Given the description of an element on the screen output the (x, y) to click on. 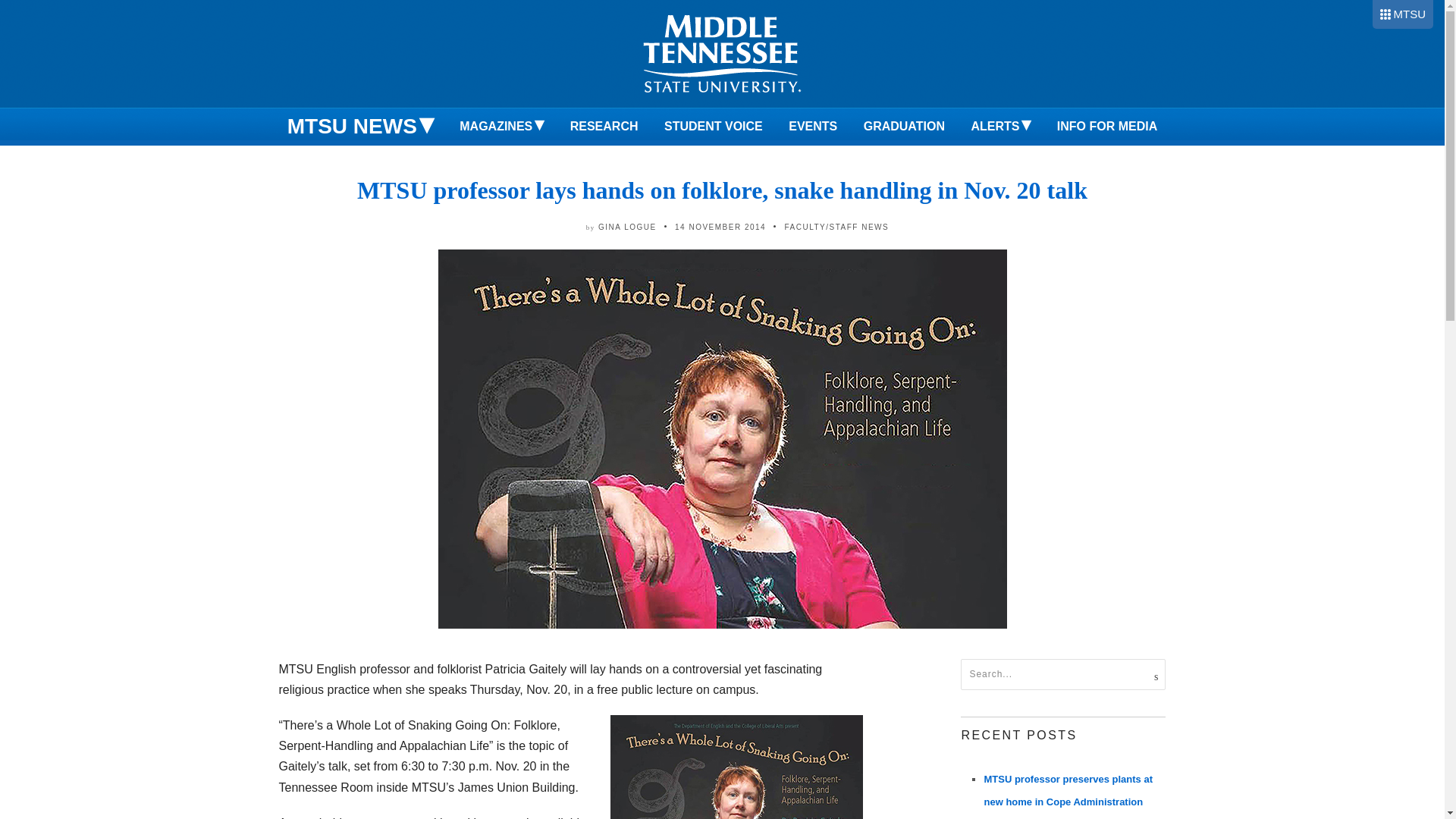
November 14, 2014 4:44 (720, 226)
Posts by Gina Logue (627, 226)
